Given the description of an element on the screen output the (x, y) to click on. 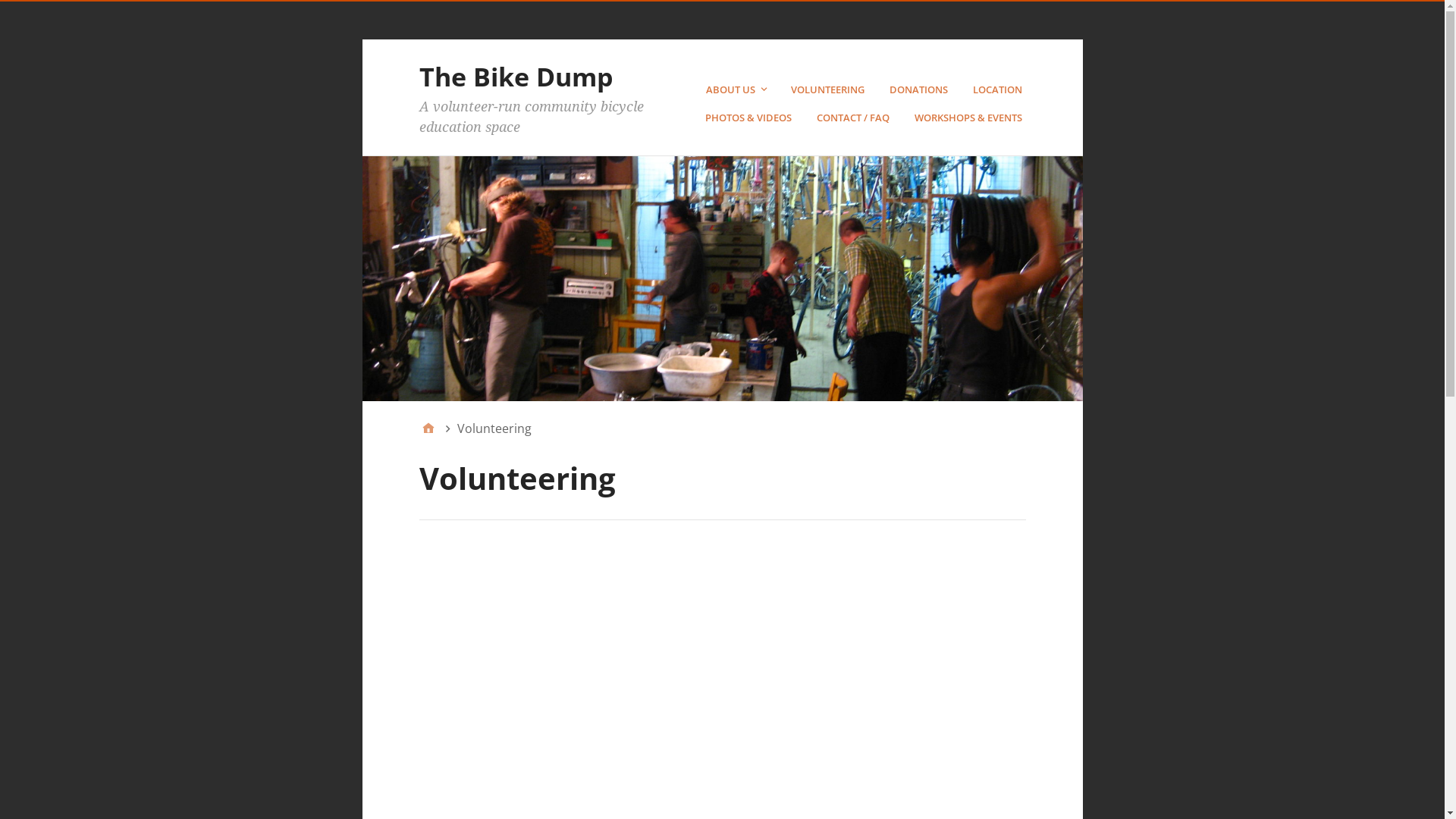
DONATIONS Element type: text (919, 89)
The Bike Dump Element type: text (515, 76)
LOCATION Element type: text (998, 89)
WORKSHOPS & EVENTS Element type: text (970, 117)
ABOUT US Element type: text (736, 89)
PHOTOS & VIDEOS Element type: text (750, 117)
VOLUNTEERING Element type: text (828, 89)
CONTACT / FAQ Element type: text (853, 117)
